Given the description of an element on the screen output the (x, y) to click on. 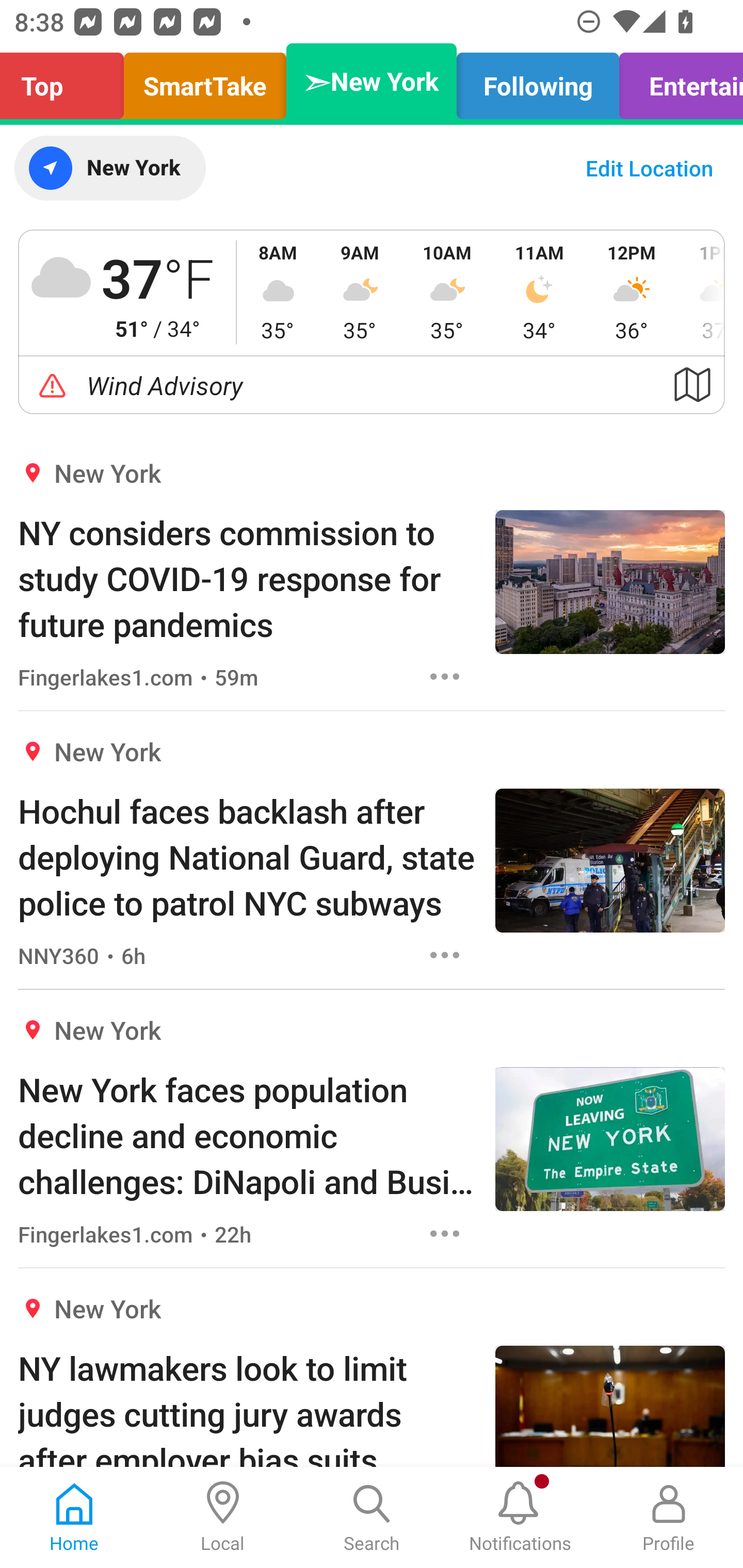
Top (67, 81)
SmartTake (204, 81)
➣New York (371, 81)
Following (537, 81)
New York (109, 168)
Edit Location (648, 168)
8AM 35° (277, 291)
9AM 35° (359, 291)
10AM 35° (447, 291)
11AM 34° (539, 291)
12PM 36° (631, 291)
Wind Advisory (371, 384)
Options (444, 676)
Options (444, 954)
Options (444, 1233)
Local (222, 1517)
Search (371, 1517)
Notifications, New notification Notifications (519, 1517)
Profile (668, 1517)
